Given the description of an element on the screen output the (x, y) to click on. 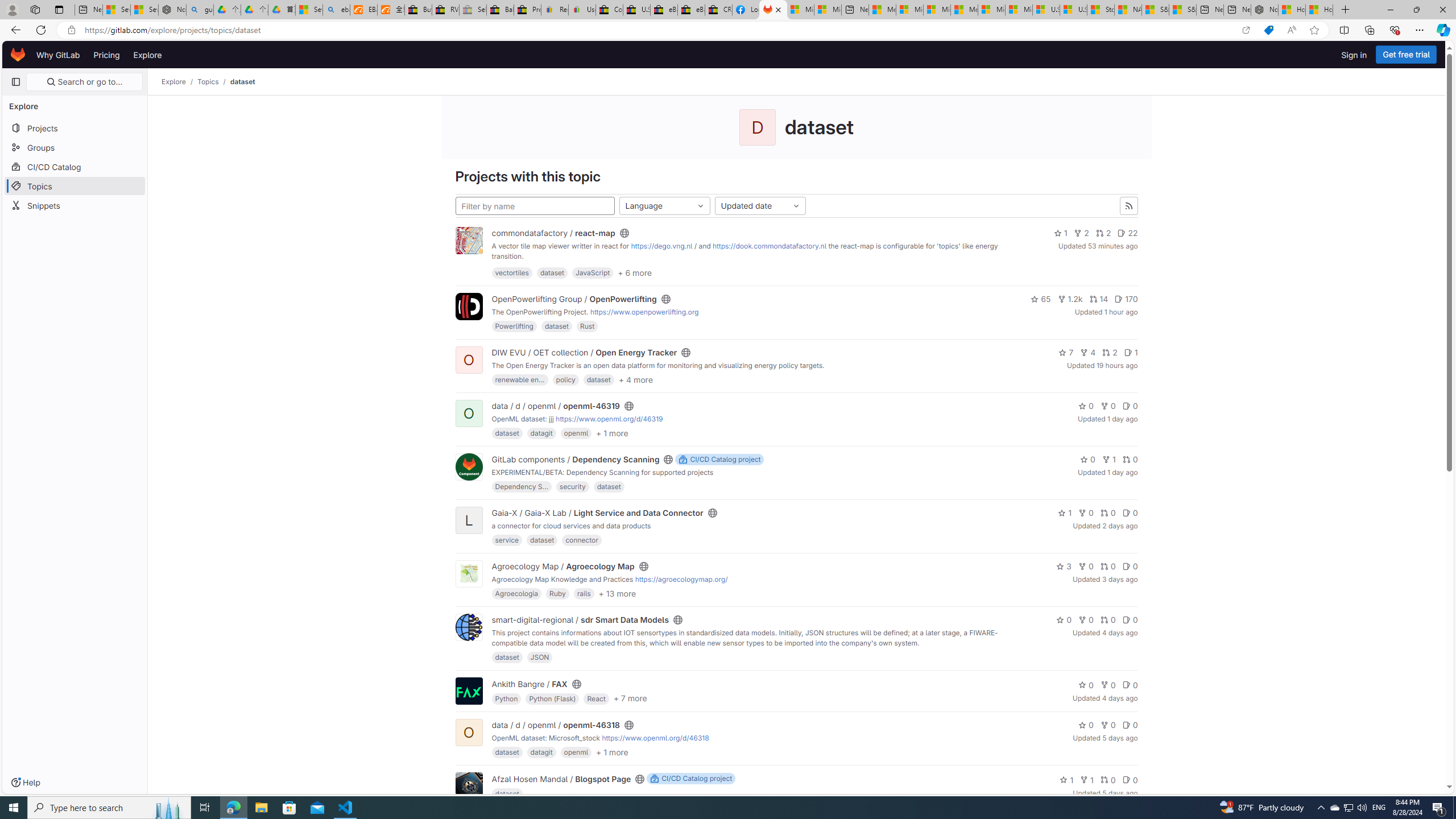
dataset (507, 792)
dataset (242, 81)
+ 1 more (612, 751)
Class: s14 gl-mr-2 (1126, 779)
Class: project (468, 786)
S&P 500, Nasdaq end lower, weighed by Nvidia dip | Watch (1182, 9)
Powerlifting (513, 325)
security (572, 486)
Add this page to favorites (Ctrl+D) (1314, 29)
O (468, 732)
Topics (74, 185)
Sign in (1353, 54)
Consumer Health Data Privacy Policy - eBay Inc. (609, 9)
